Given the description of an element on the screen output the (x, y) to click on. 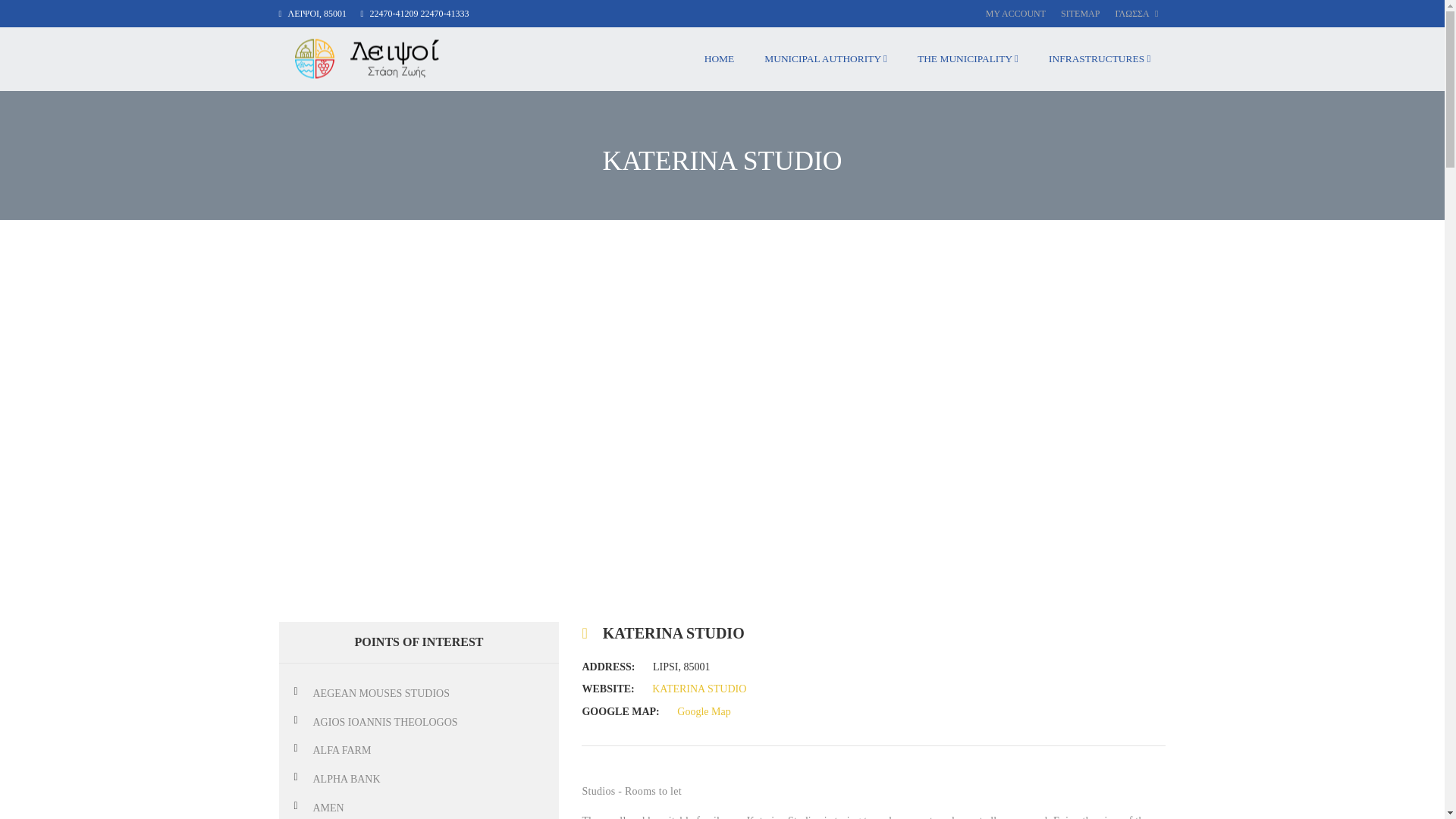
AGIOS IOANNIS THEOLOGOS (385, 721)
THE MUNICIPALITY (967, 58)
HOME (718, 58)
MUNICIPAL AUTHORITY (825, 58)
MY ACCOUNT (1015, 13)
ALPHA BANK (346, 778)
INFRASTRUCTURES (1099, 58)
AEGEAN MOUSES STUDIOS (380, 693)
SITEMAP (1079, 13)
AMEN (328, 808)
ALFA FARM (342, 749)
